Given the description of an element on the screen output the (x, y) to click on. 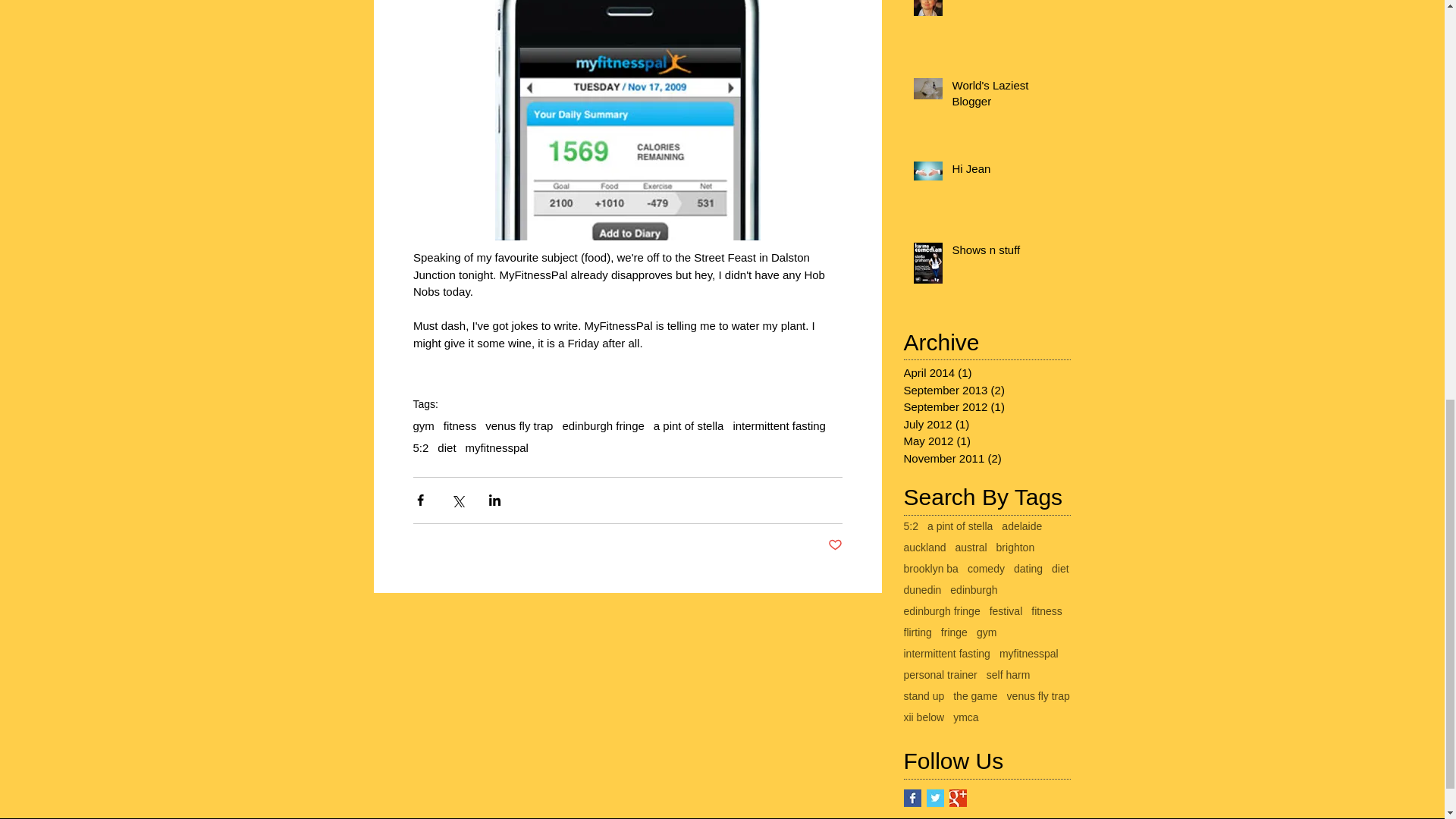
Post not marked as liked (835, 545)
Shows n stuff (1006, 252)
Enter the Dragon (1006, 3)
auckland (925, 547)
World's Laziest Blogger (1006, 95)
venus fly trap (518, 425)
Hi Jean (1006, 171)
diet (446, 447)
myfitnesspal (496, 447)
a pint of stella (959, 526)
